Given the description of an element on the screen output the (x, y) to click on. 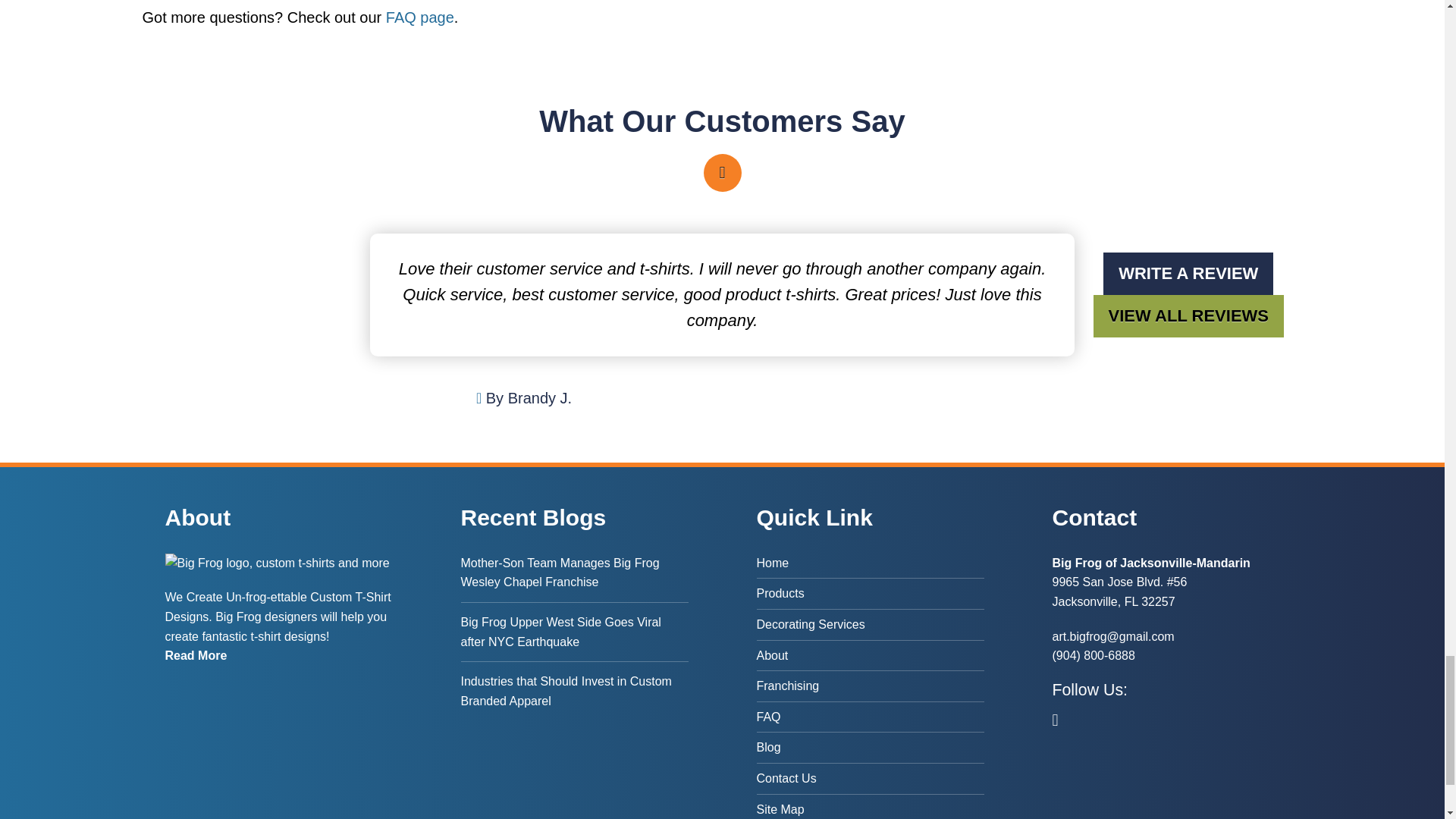
Read More (196, 655)
FAQ page (419, 17)
VIEW ALL REVIEWS (1188, 315)
Big Frog Upper West Side Goes Viral after NYC Earthquake (574, 631)
WRITE A REVIEW (1187, 273)
Industries that Should Invest in Custom Branded Apparel (574, 690)
Home (870, 565)
Mother-Son Team Manages Big Frog Wesley Chapel Franchise (574, 577)
